Given the description of an element on the screen output the (x, y) to click on. 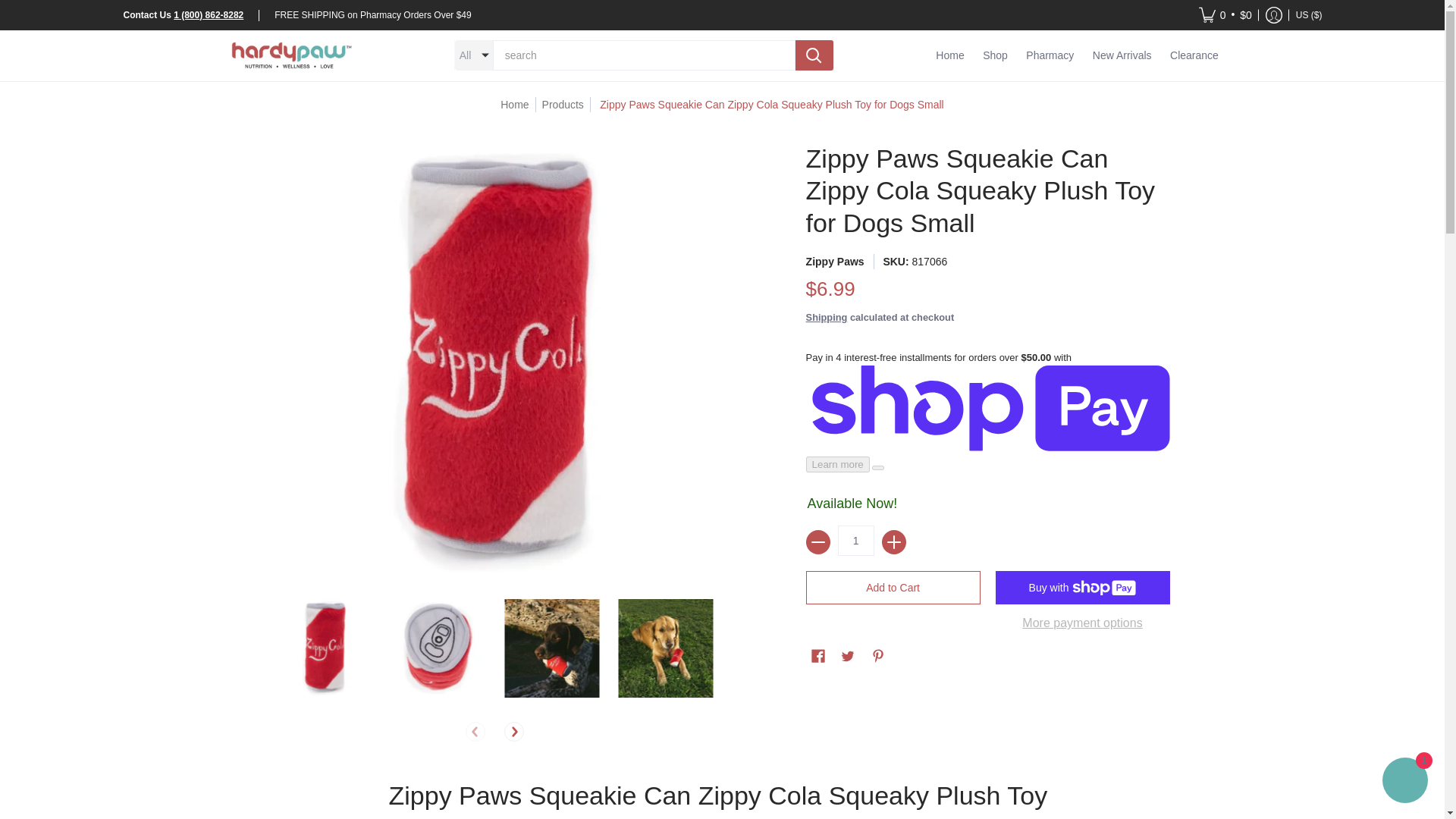
tel:1-800-862-8282 (208, 14)
Update store currency (1308, 15)
Log in (1273, 15)
Cart (1225, 15)
1 (856, 540)
